Given the description of an element on the screen output the (x, y) to click on. 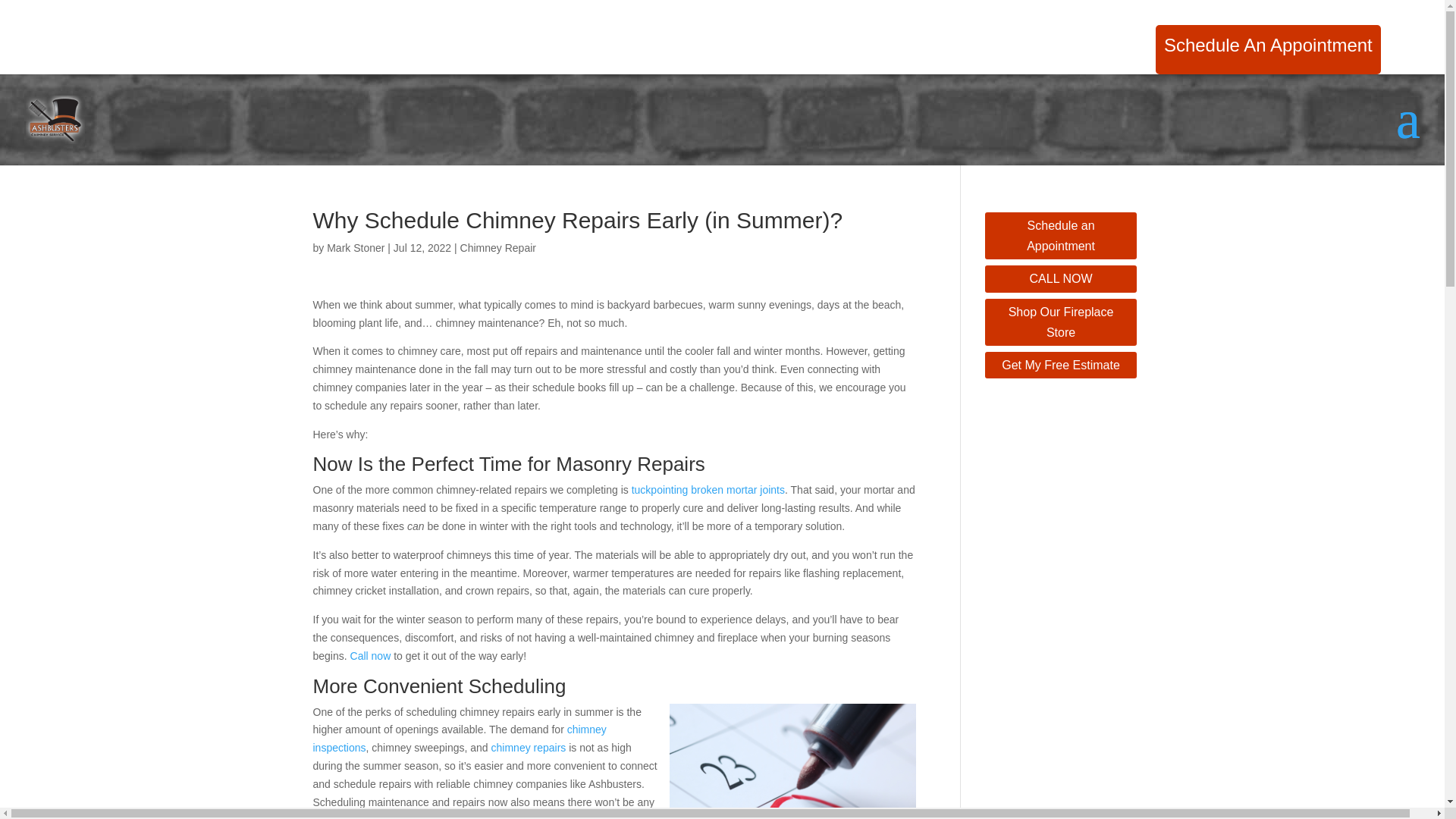
Call now (370, 655)
Posts by Mark Stoner (355, 247)
tuckpointing broken mortar joints (707, 490)
Mark Stoner (355, 247)
chimney inspections (459, 738)
chimney repairs (529, 747)
Schedule An Appointment (1268, 56)
Chimney Repair (497, 247)
